Given the description of an element on the screen output the (x, y) to click on. 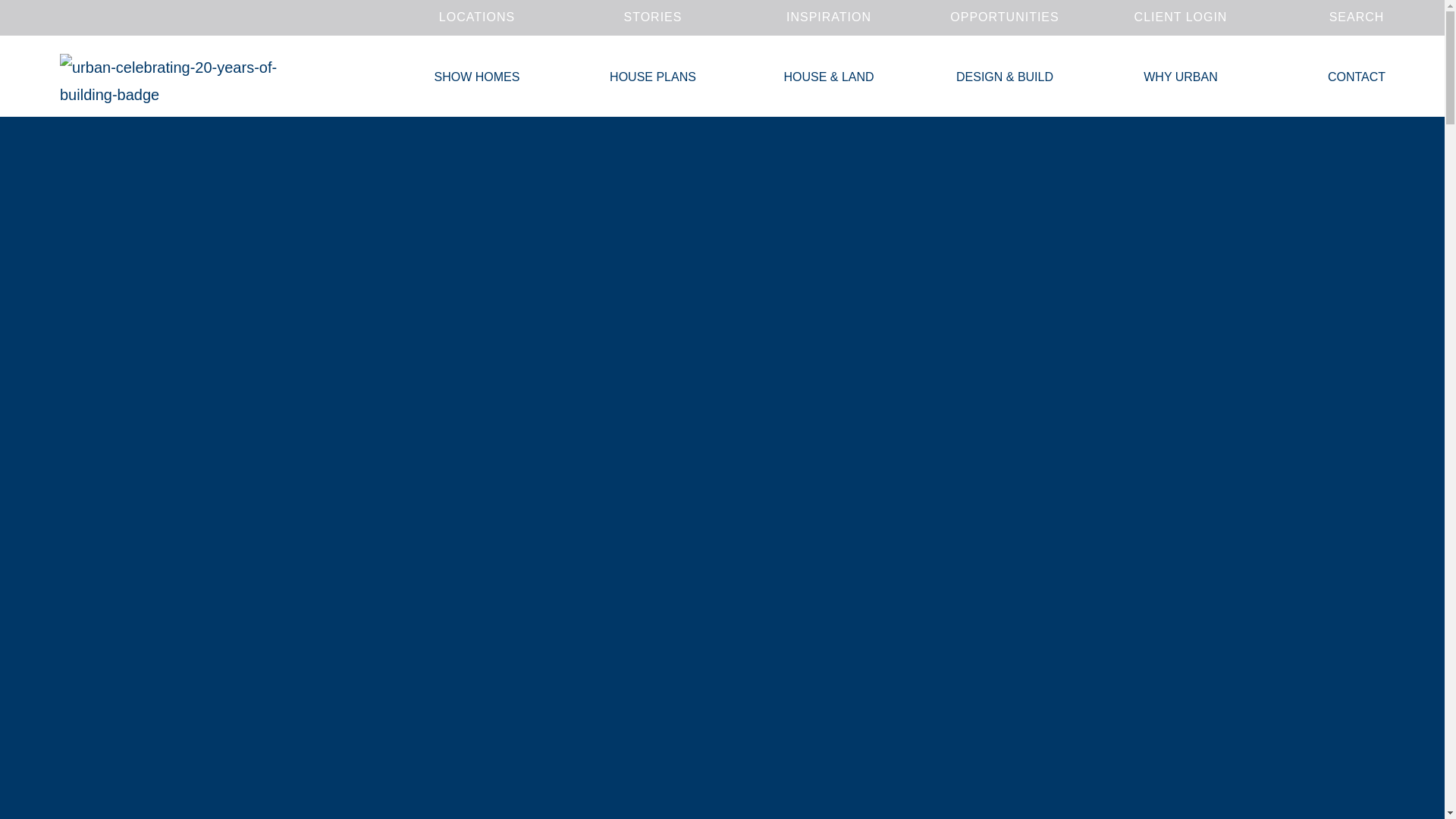
CONTACT (1356, 77)
STORIES (652, 17)
INSPIRATION (829, 17)
SHOW HOMES (476, 77)
OPPORTUNITIES (1004, 17)
Urban House (180, 81)
WHY URBAN (1179, 77)
SEARCH (1356, 17)
LOCATIONS (476, 17)
CLIENT LOGIN (1180, 17)
